Given the description of an element on the screen output the (x, y) to click on. 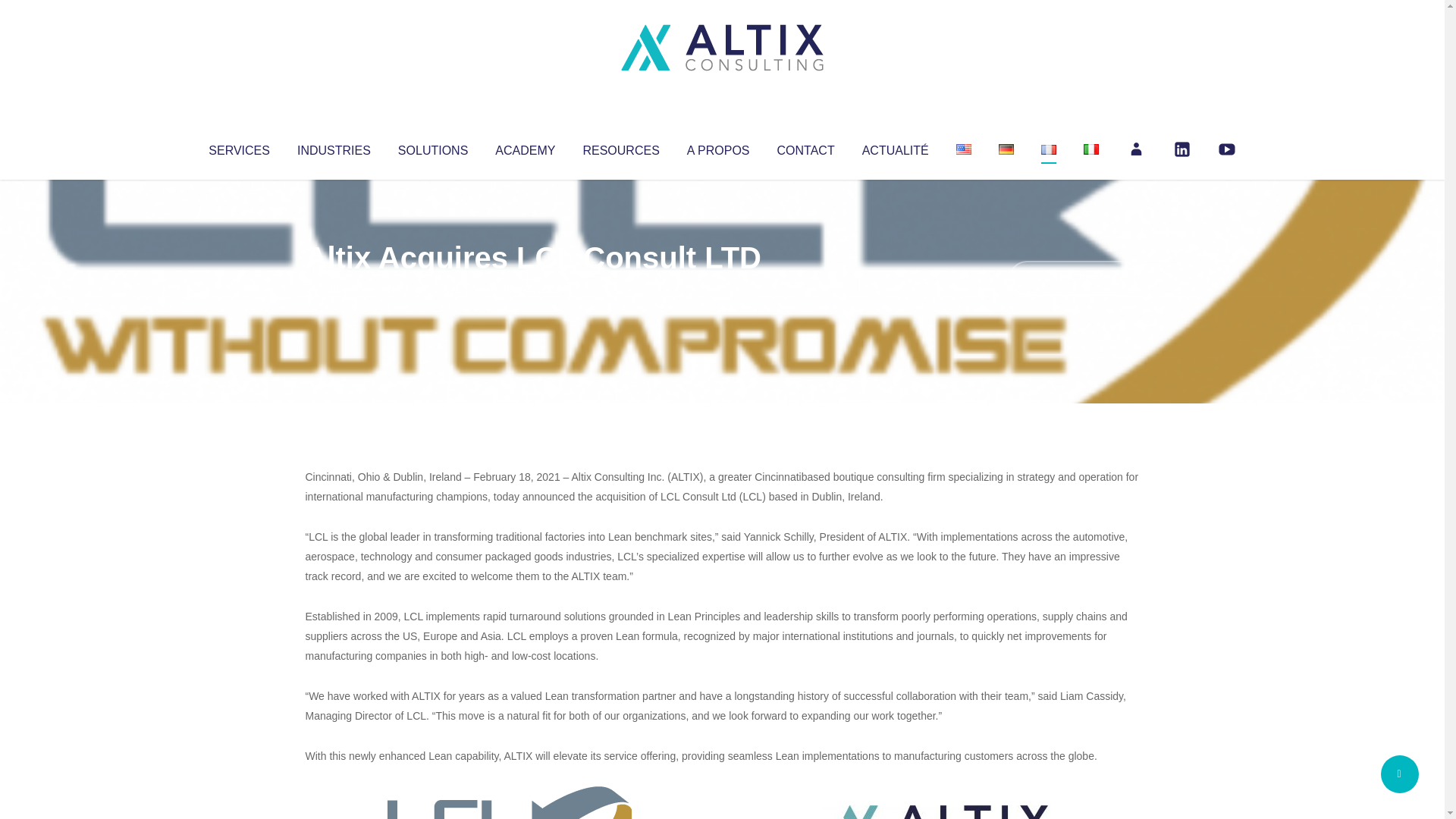
Articles par Altix (333, 287)
Uncategorized (530, 287)
No Comments (1073, 278)
SERVICES (238, 146)
RESOURCES (620, 146)
INDUSTRIES (334, 146)
Altix (333, 287)
SOLUTIONS (432, 146)
A PROPOS (718, 146)
ACADEMY (524, 146)
